Given the description of an element on the screen output the (x, y) to click on. 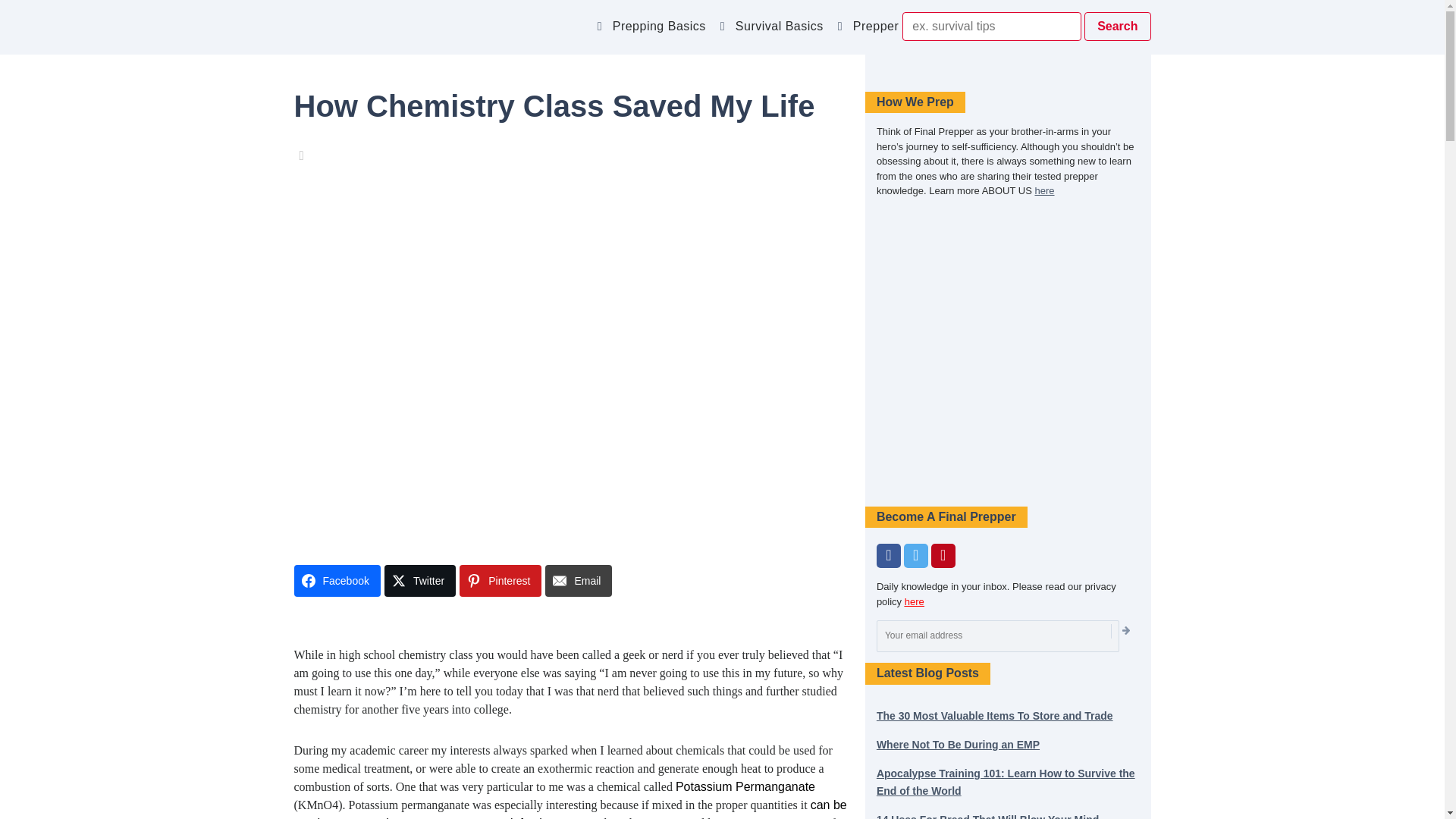
Prepper Resources (911, 30)
Survival Basics (782, 30)
Search (1117, 26)
Share on Twitter (419, 581)
Share on Pinterest (500, 581)
Search (1117, 26)
Prepping Basics (661, 30)
Share on Email (577, 581)
Share on Facebook (337, 581)
